Given the description of an element on the screen output the (x, y) to click on. 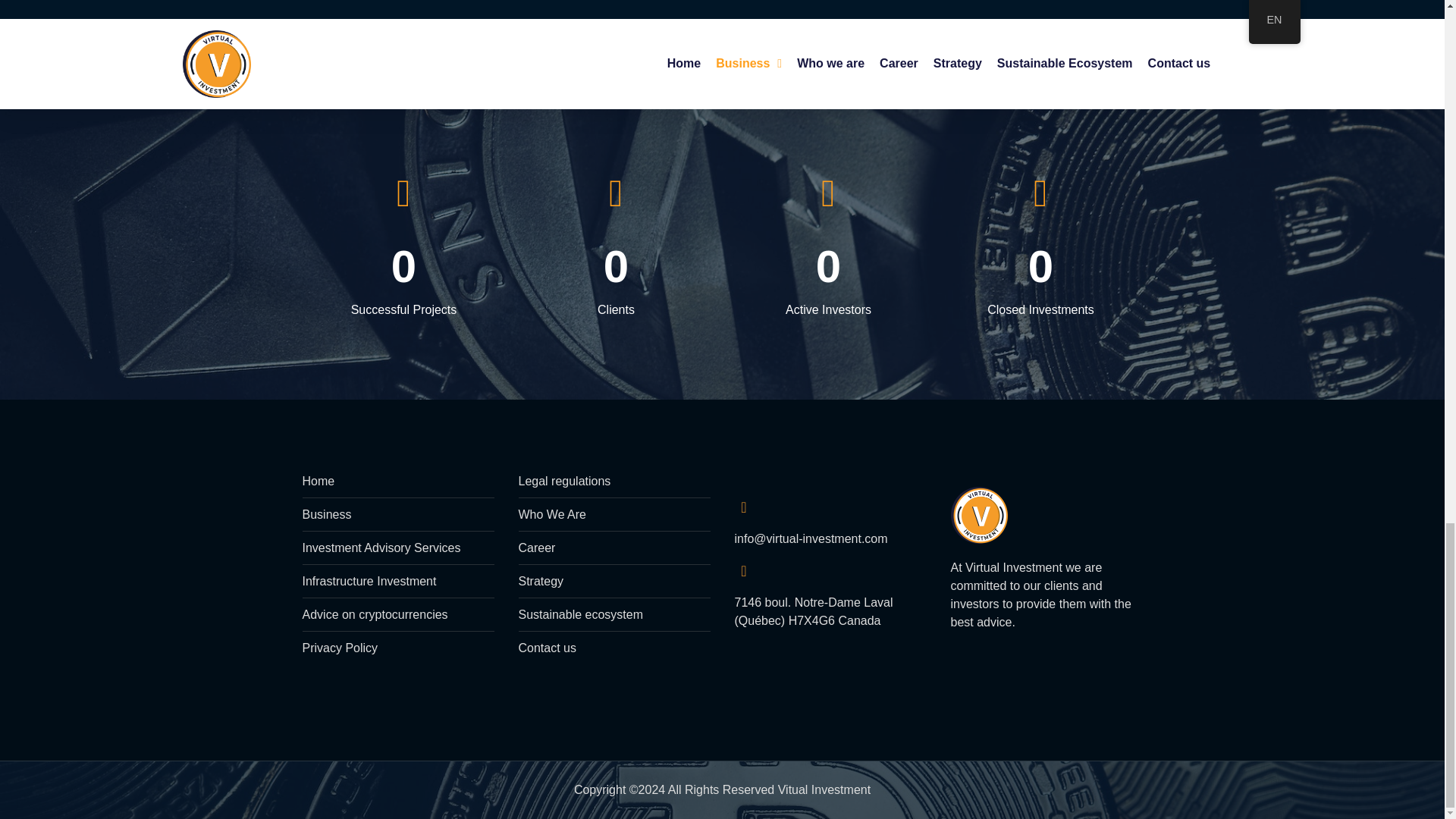
Contact us (827, 275)
